Given the description of an element on the screen output the (x, y) to click on. 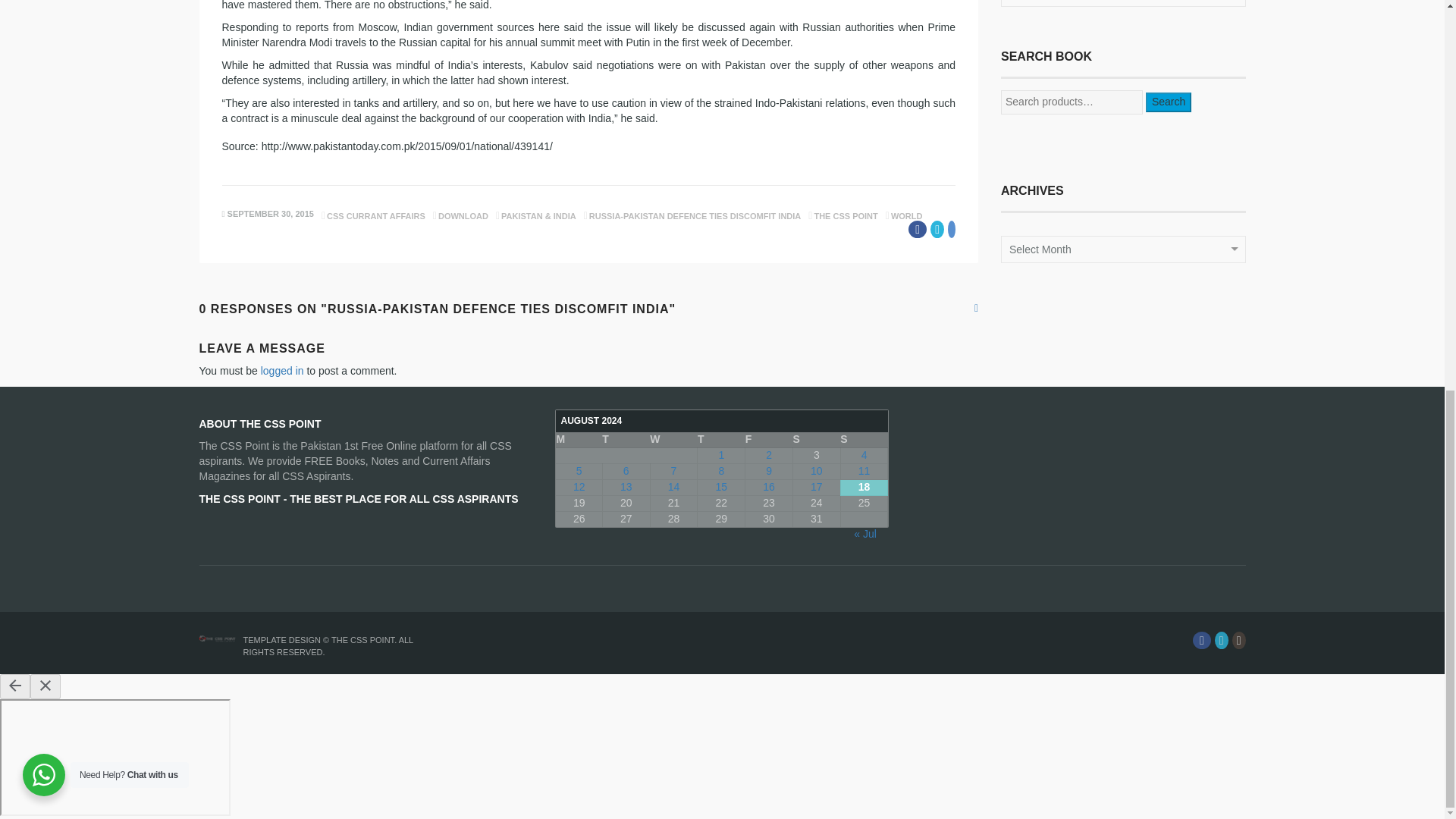
Thursday (721, 439)
Wednesday (673, 439)
Tuesday (625, 439)
Saturday (816, 439)
Monday (579, 439)
Friday (769, 439)
